Given the description of an element on the screen output the (x, y) to click on. 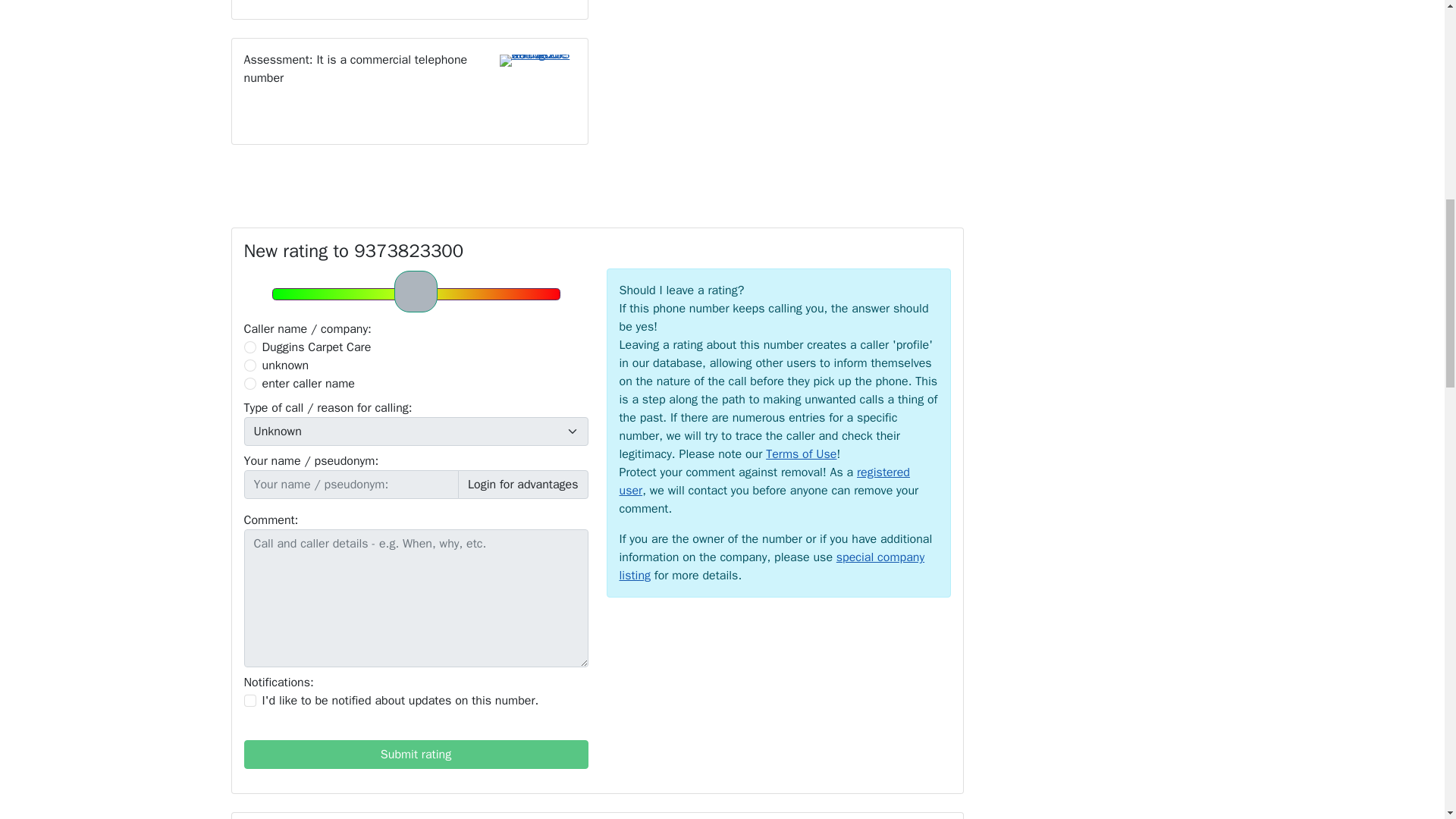
Submit rating (416, 754)
Submit rating (416, 754)
3 (250, 383)
registered user (763, 481)
1 (250, 700)
5 (414, 294)
0 (250, 346)
Terms of Use (800, 453)
Login for advantages (523, 484)
